Given the description of an element on the screen output the (x, y) to click on. 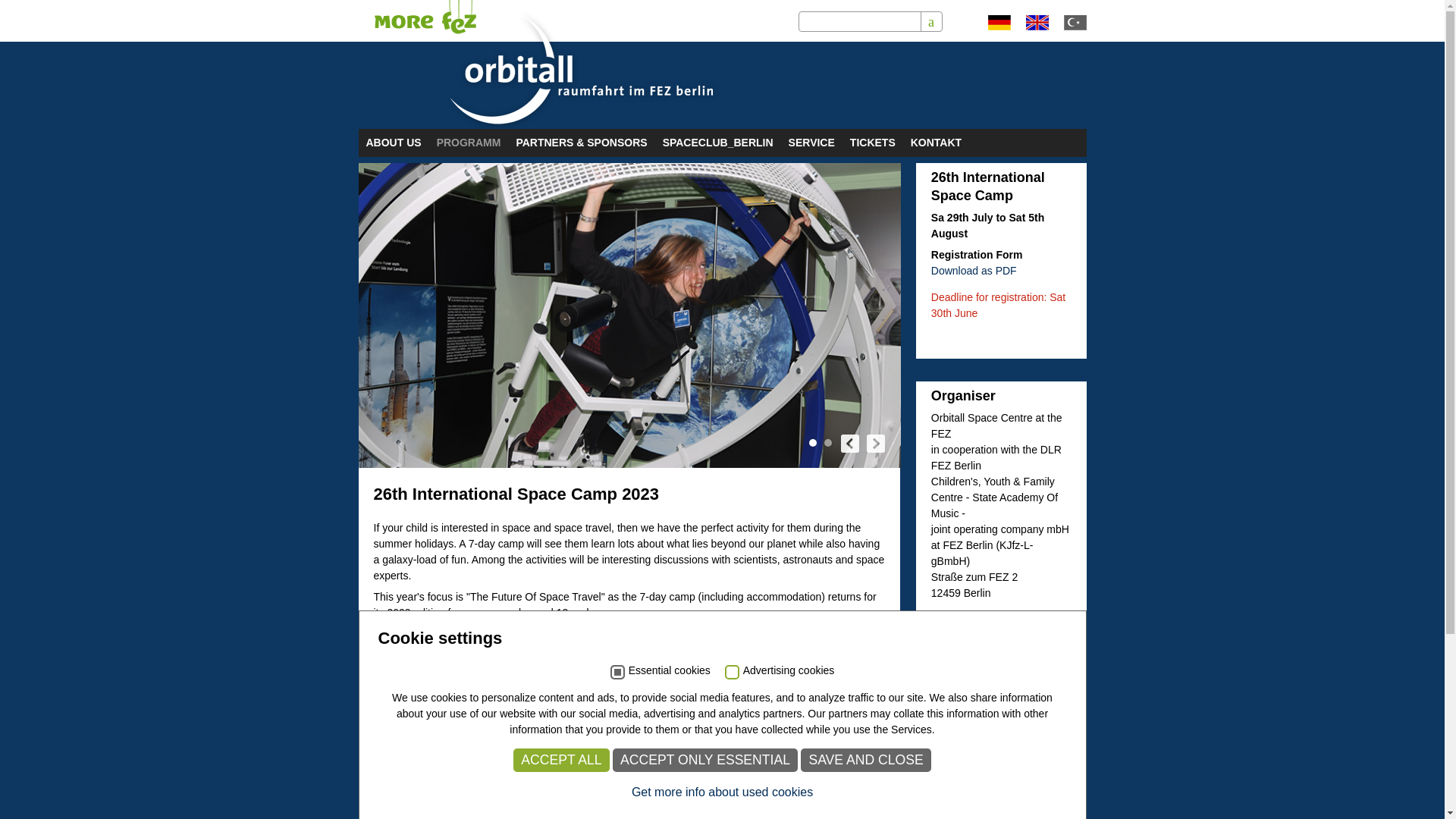
a (931, 21)
PROGRAMM (468, 142)
ABOUT US (393, 142)
KONTAKT (935, 142)
a (931, 21)
a (931, 21)
SERVICE (811, 142)
TICKETS (872, 142)
Downloads PDF (973, 270)
